Given the description of an element on the screen output the (x, y) to click on. 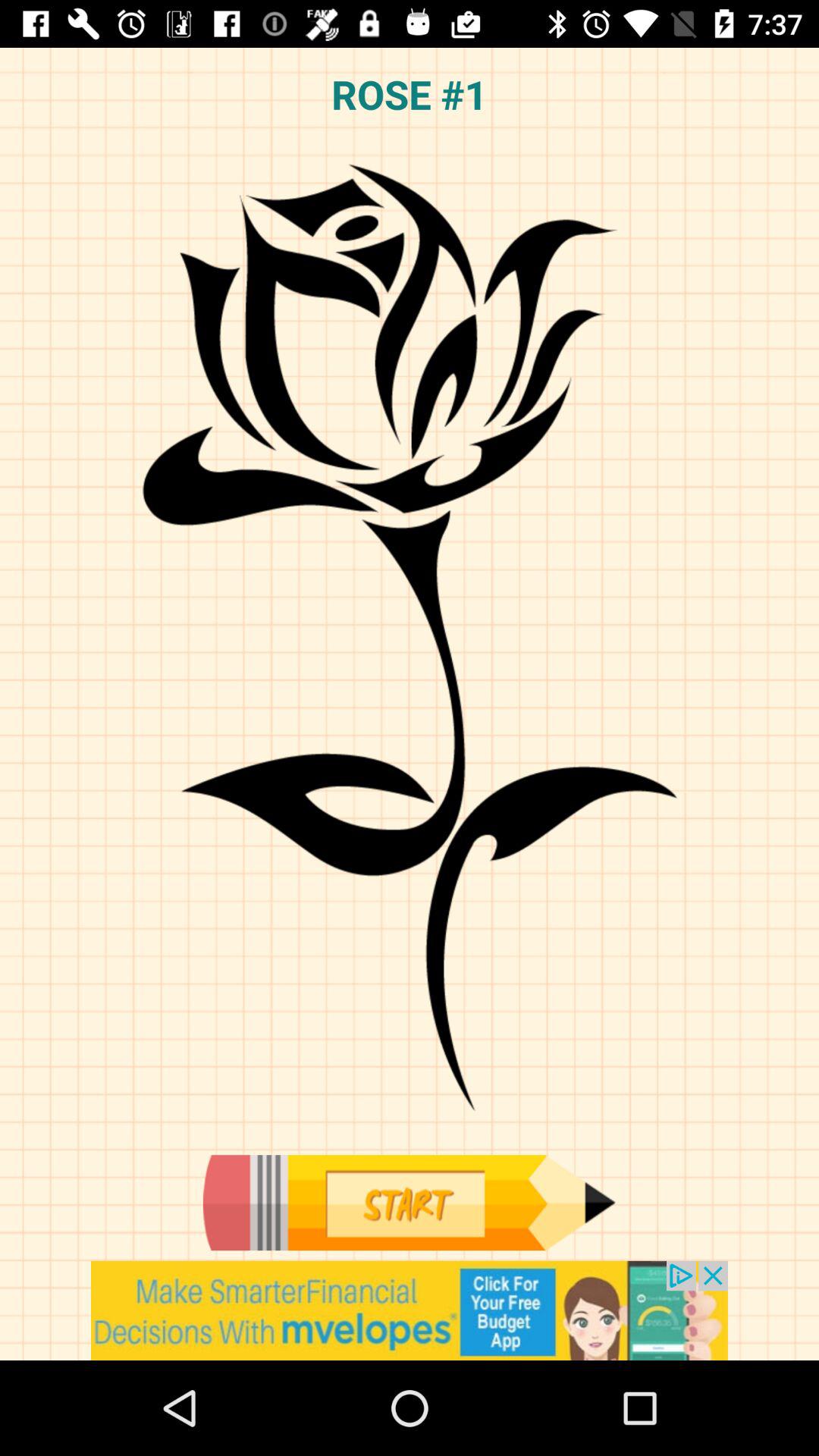
mvelopes advertisement (409, 1310)
